Given the description of an element on the screen output the (x, y) to click on. 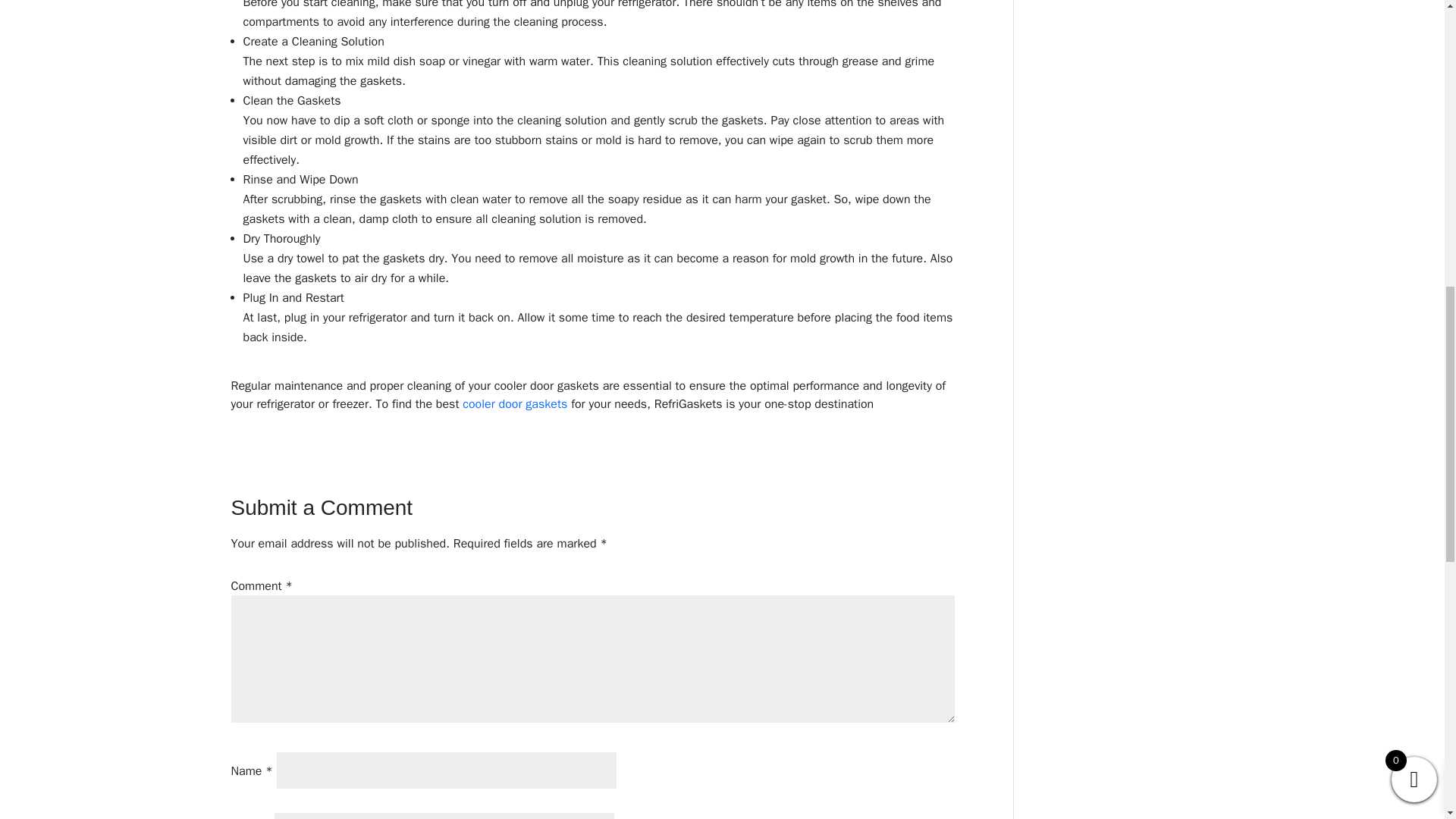
cooler door gaskets (515, 403)
